Given the description of an element on the screen output the (x, y) to click on. 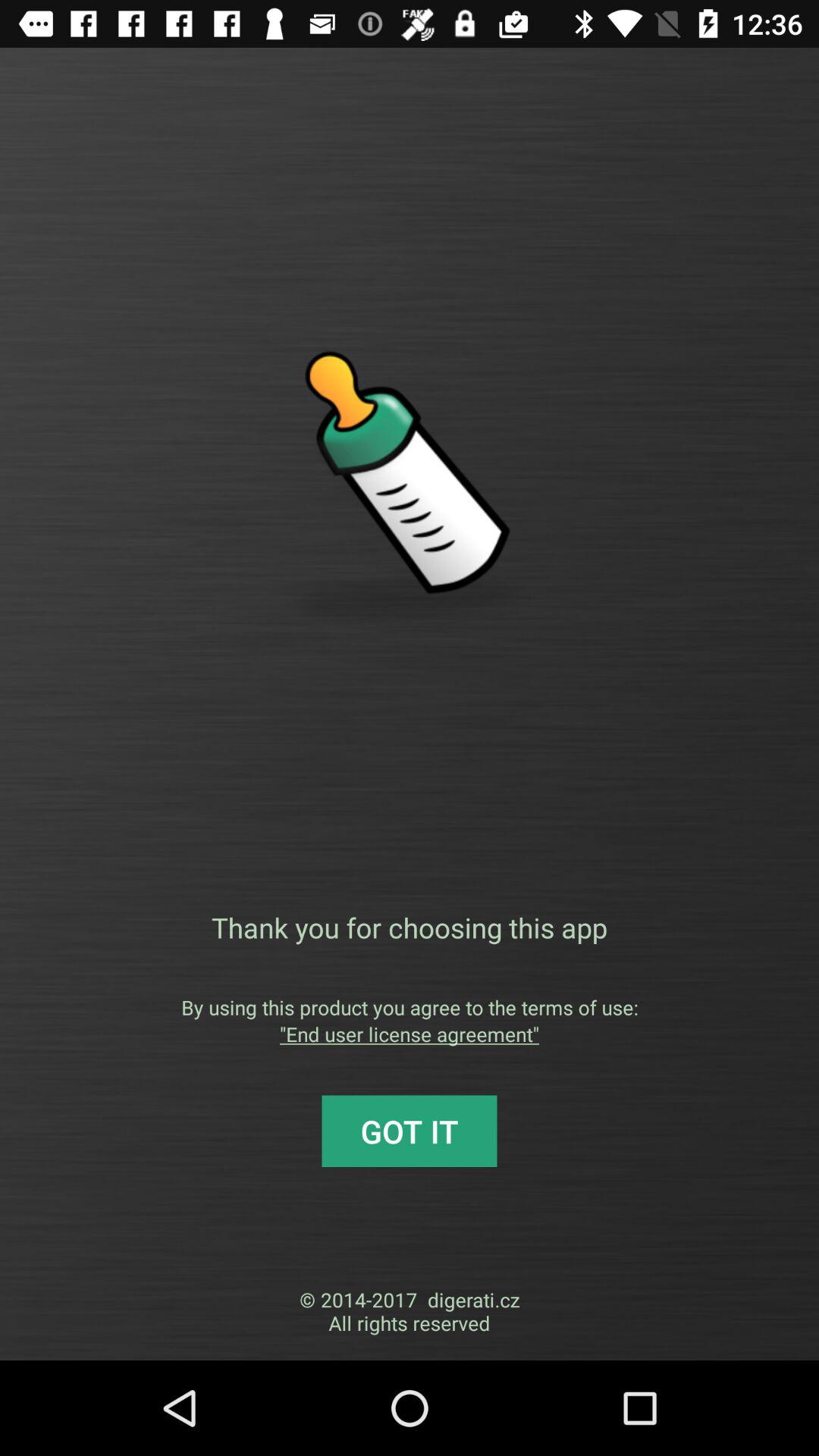
tap item below thank you for item (409, 1007)
